Given the description of an element on the screen output the (x, y) to click on. 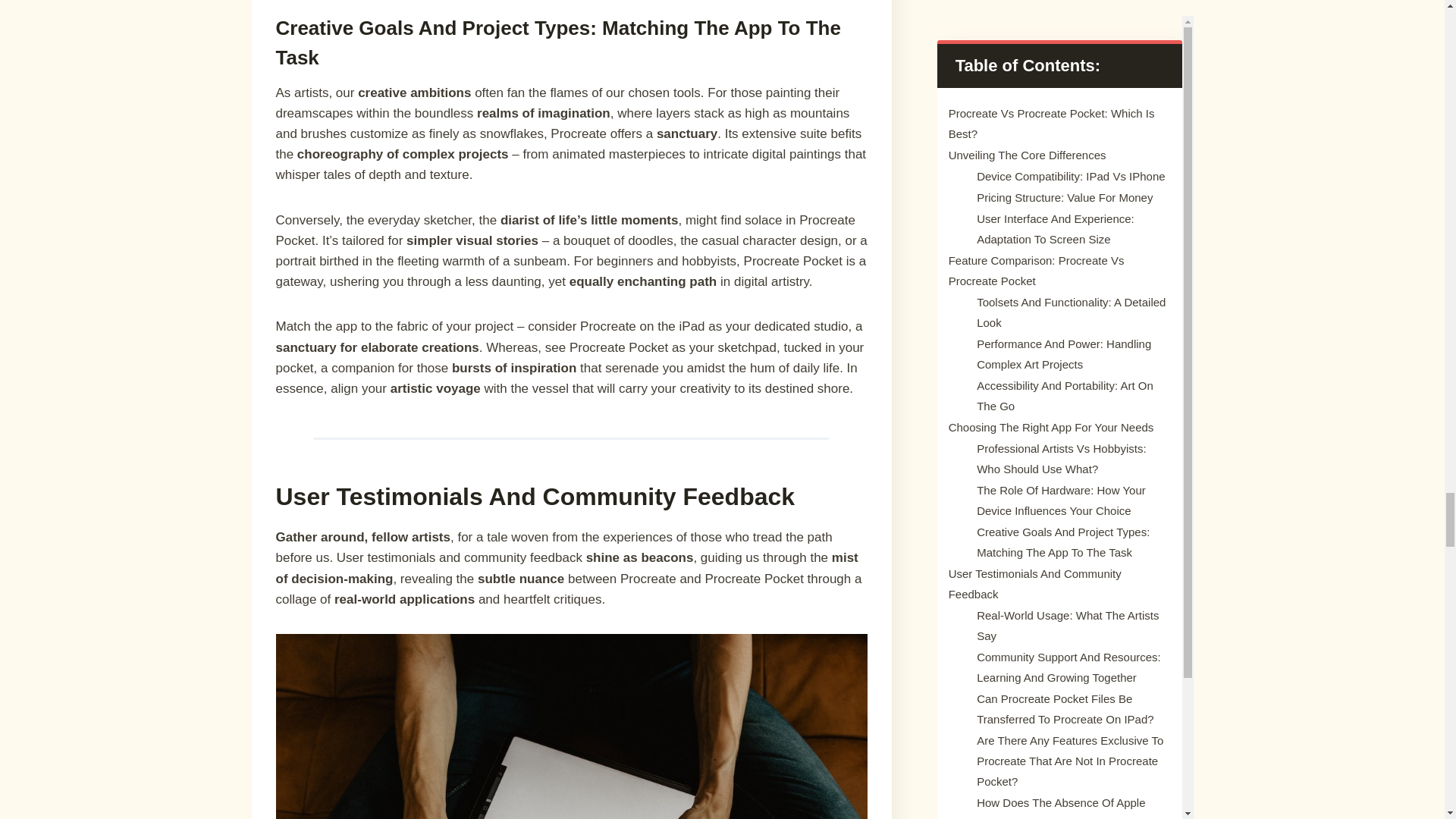
Procreate: Woman Drawing on iPad with Apple Pencil (571, 726)
